Given the description of an element on the screen output the (x, y) to click on. 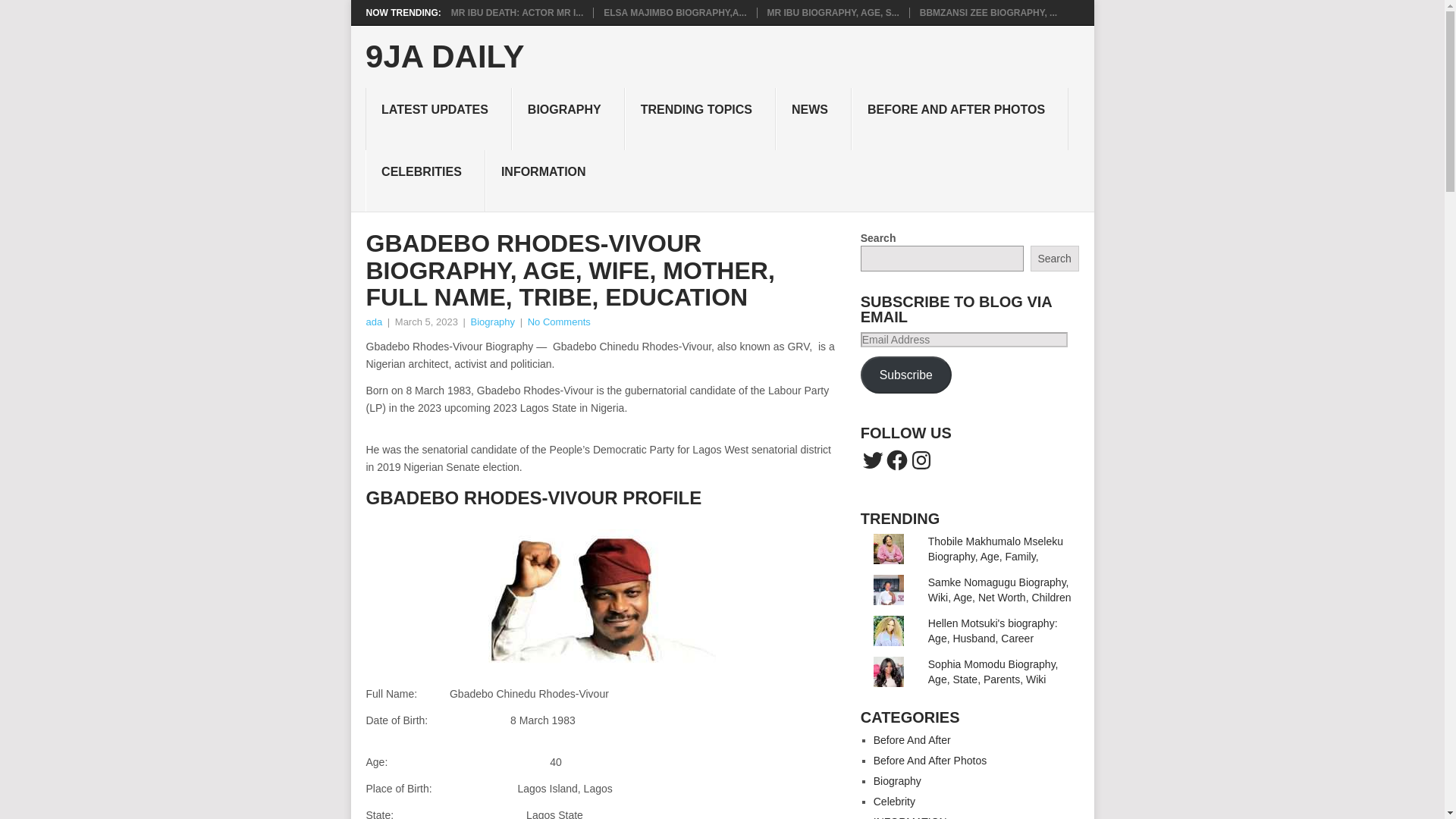
LATEST UPDATES (438, 118)
MR IBU BIOGRAPHY, AGE, S... (833, 12)
INFORMATION (546, 180)
Posts by ada (373, 321)
Subscribe (906, 374)
Mr Ibu Biography, Age, Sickness, Movies, Family, Death (833, 12)
Facebook (896, 459)
Biography (492, 321)
No Comments (559, 321)
ada (373, 321)
NEWS (813, 118)
Instagram (920, 459)
CELEBRITIES (424, 180)
Search (1054, 258)
ELSA MAJIMBO BIOGRAPHY,A... (674, 12)
